Given the description of an element on the screen output the (x, y) to click on. 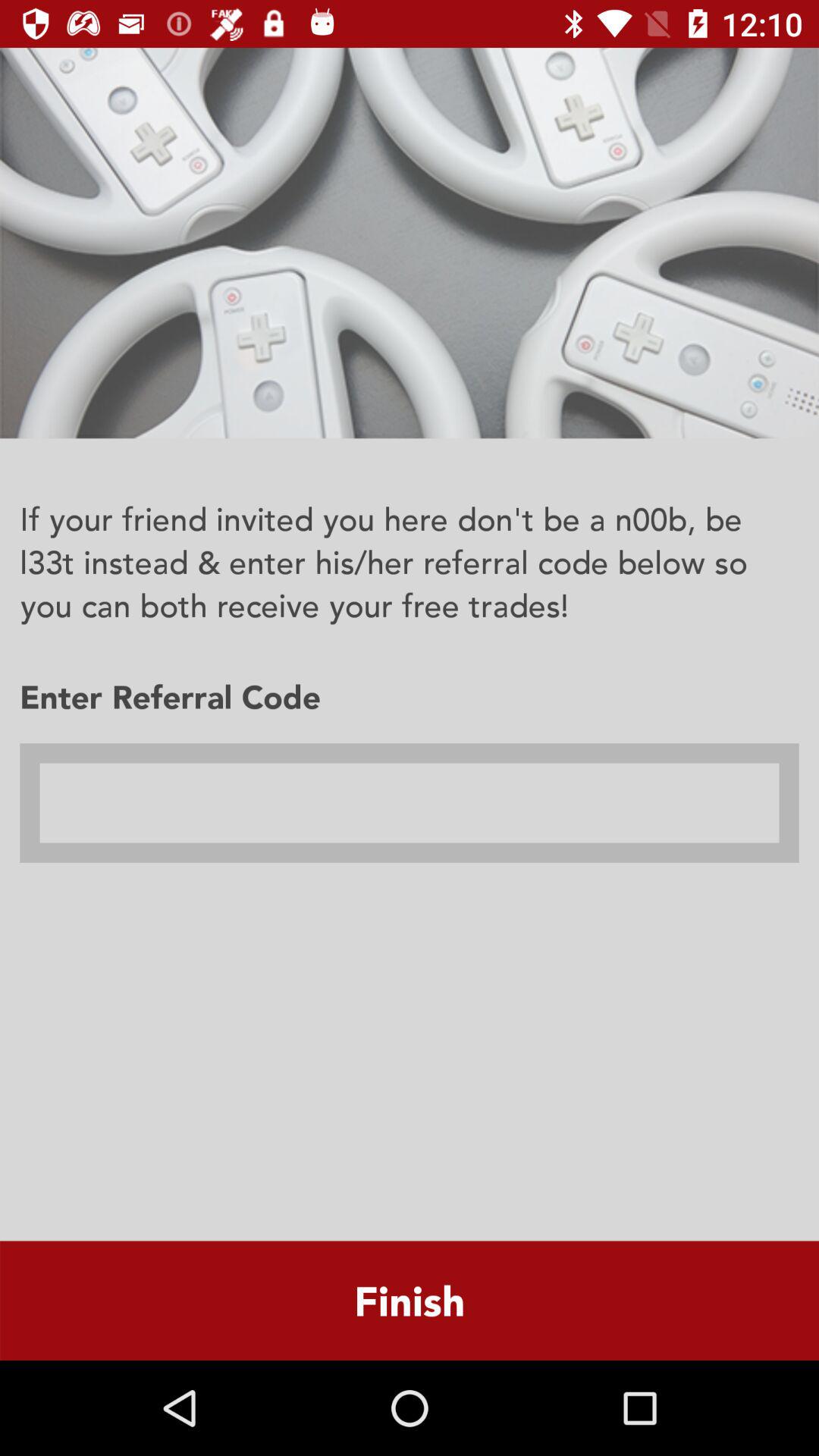
jump to finish (409, 1300)
